Given the description of an element on the screen output the (x, y) to click on. 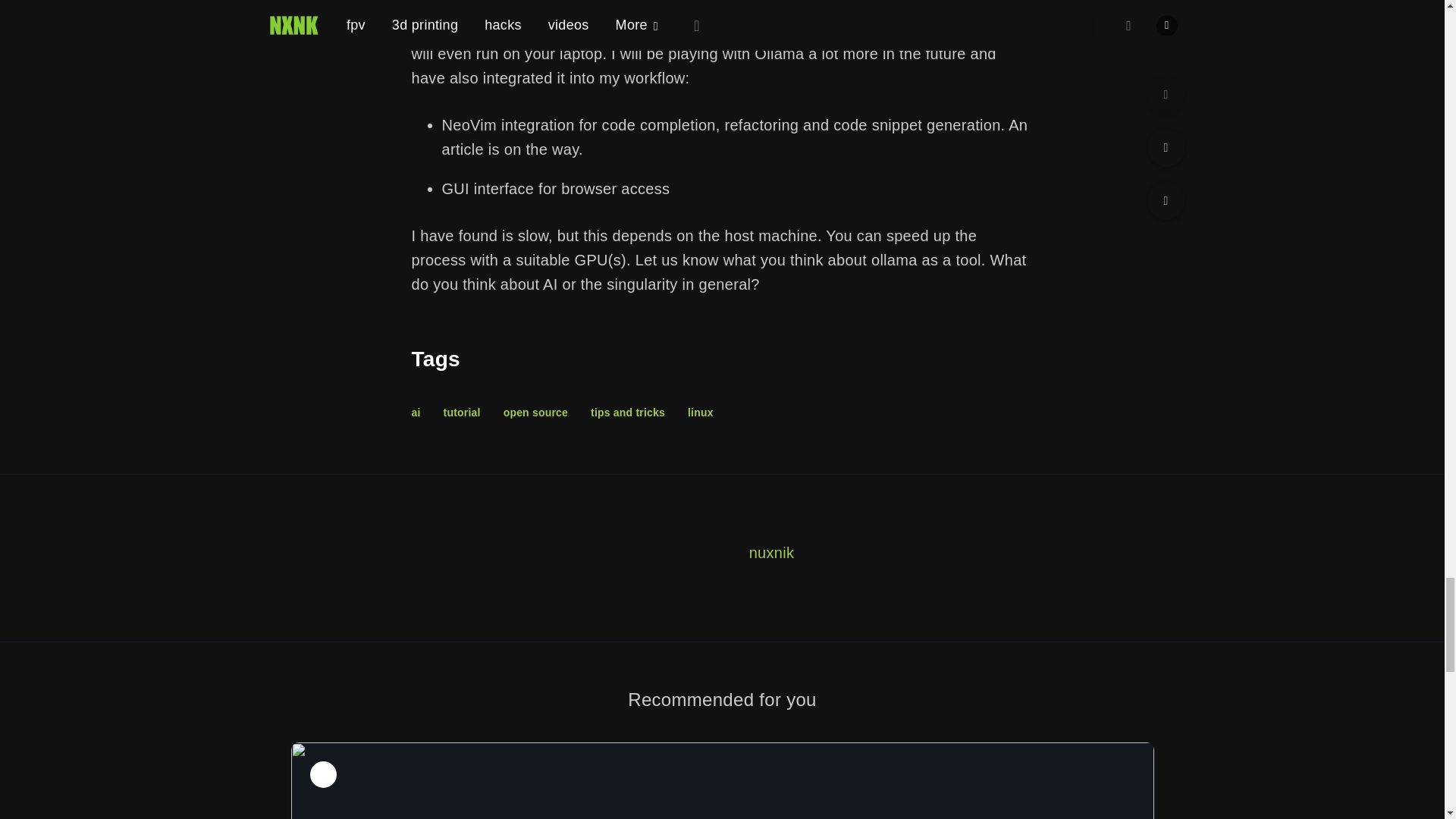
linux (700, 412)
tips and tricks (628, 412)
tutorial (462, 412)
open source (535, 412)
